Given the description of an element on the screen output the (x, y) to click on. 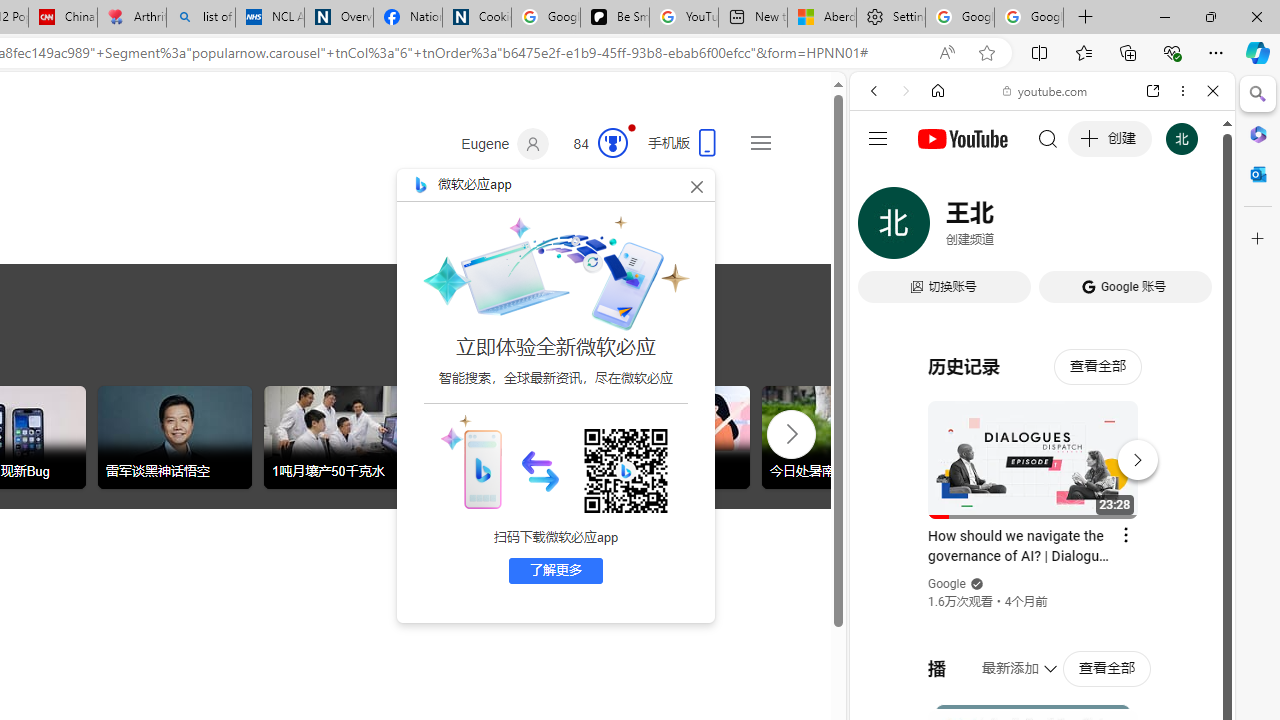
Open link in new tab (1153, 91)
Web scope (882, 180)
Click to scroll right (790, 432)
Close (1213, 91)
New tab (753, 17)
Search Filter, VIDEOS (1006, 228)
AutomationID: fly_arrimg (539, 470)
WEB   (882, 228)
Close Customize pane (1258, 239)
Trailer #2 [HD] (1042, 594)
list of asthma inhalers uk - Search (200, 17)
